Given the description of an element on the screen output the (x, y) to click on. 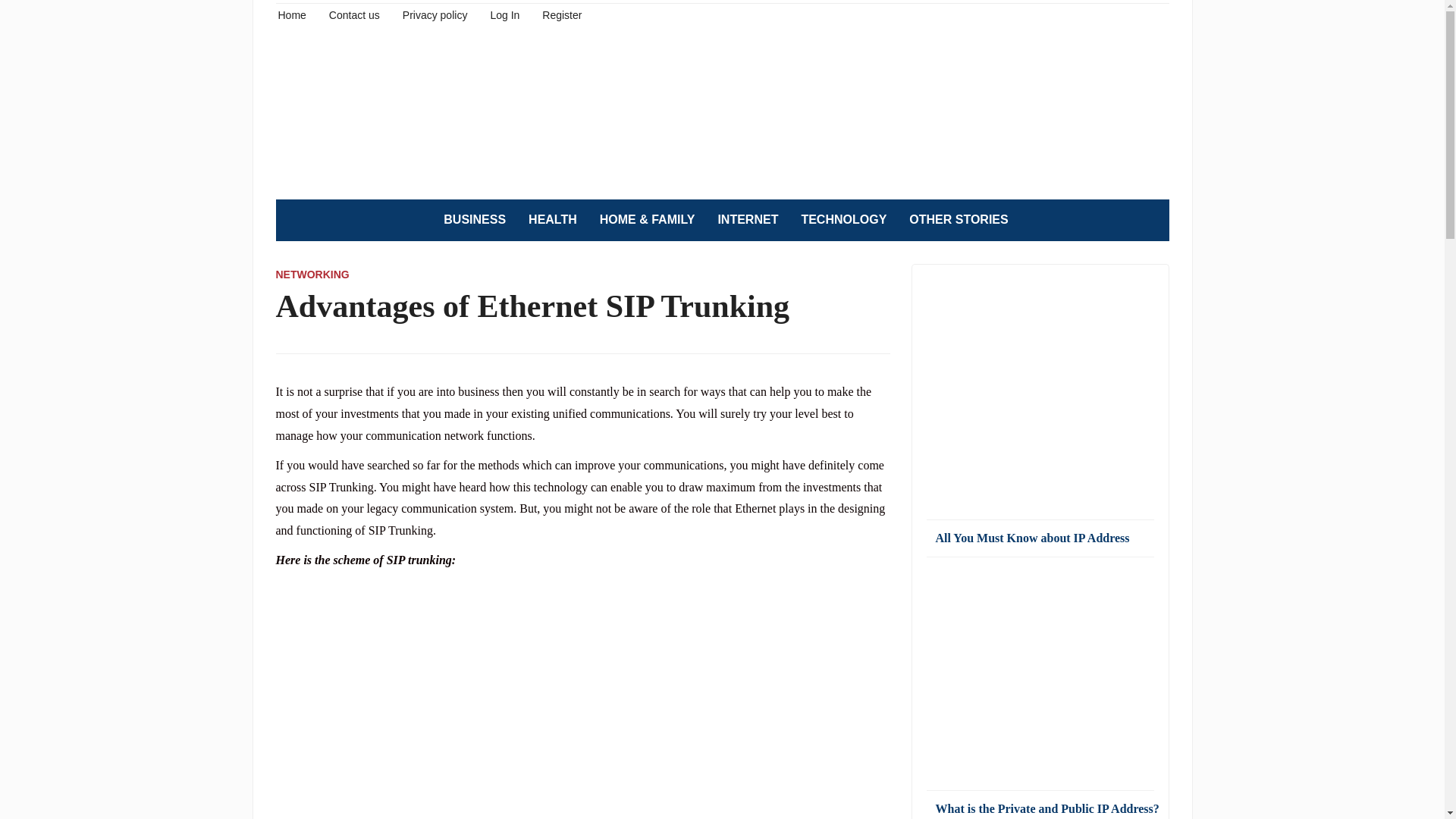
Privacy policy (435, 14)
Log In (504, 14)
Register (560, 14)
Search (1149, 219)
Home (291, 14)
Contact us (354, 14)
